Given the description of an element on the screen output the (x, y) to click on. 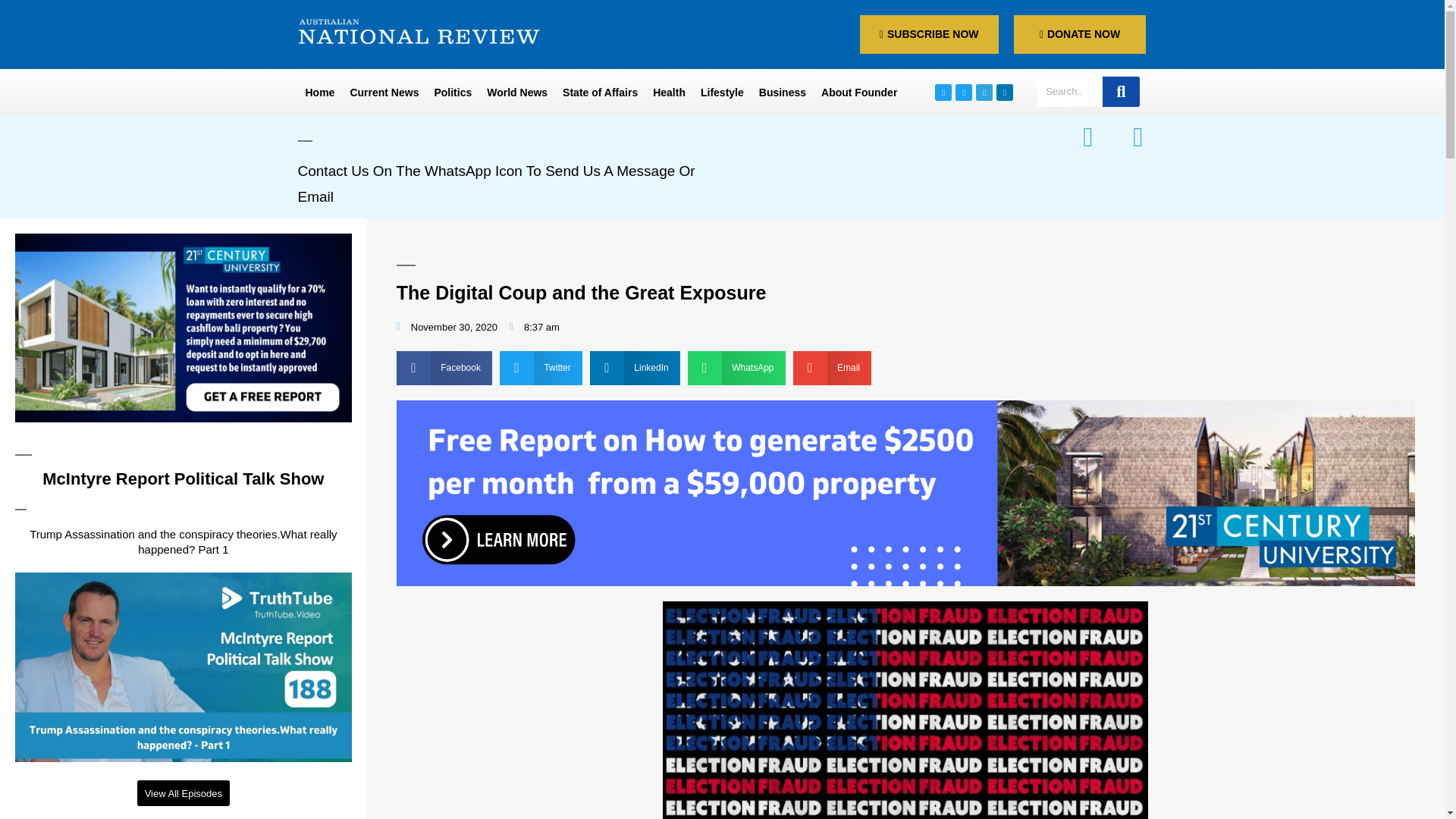
Health (669, 92)
DONATE NOW (1080, 34)
View All Episodes (183, 792)
Politics (452, 92)
World News (516, 92)
SUBSCRIBE NOW (929, 34)
Home (319, 92)
Lifestyle (722, 92)
About Founder (858, 92)
Business (782, 92)
State of Affairs (599, 92)
Current News (384, 92)
